Given the description of an element on the screen output the (x, y) to click on. 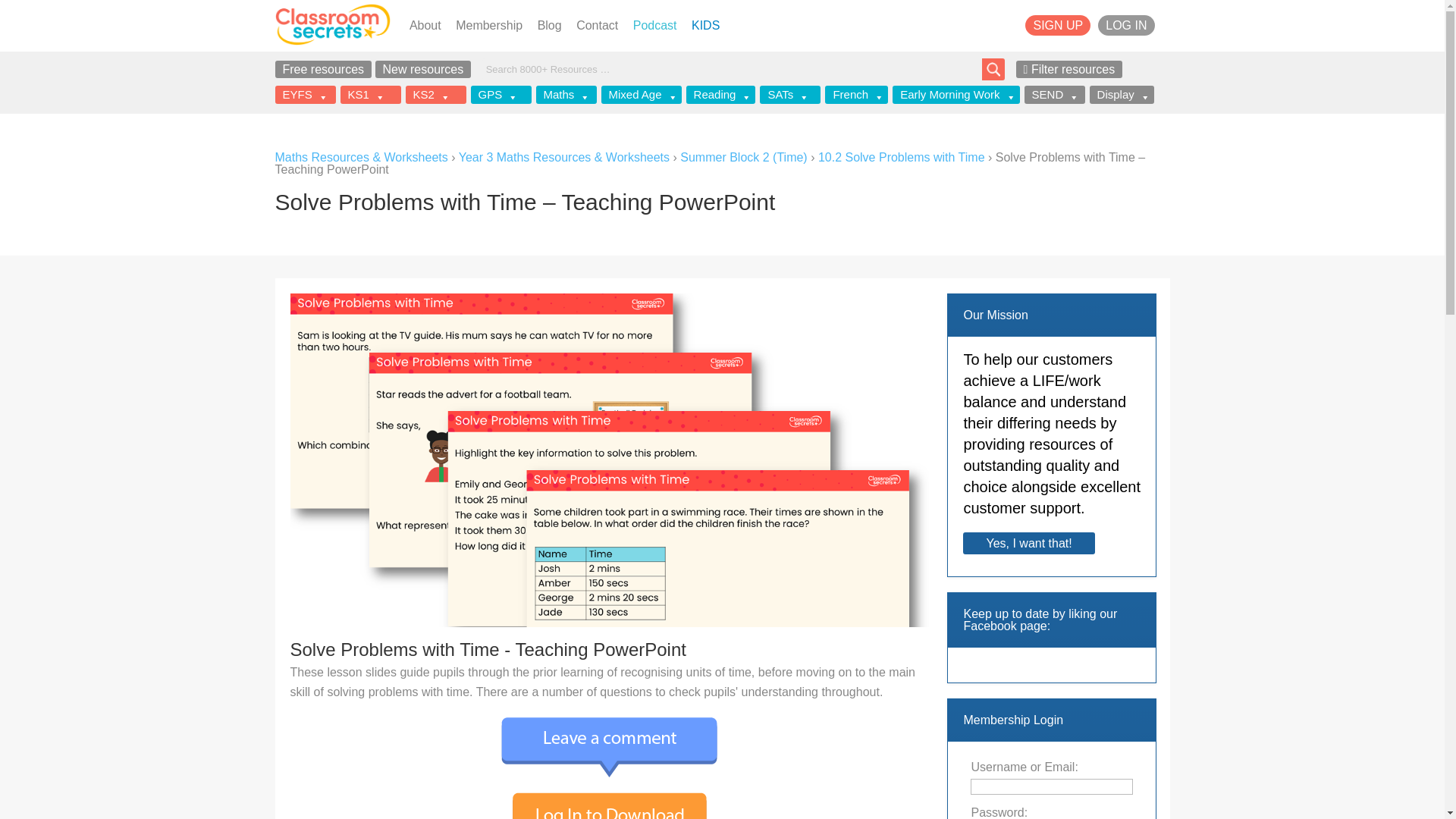
Username (1051, 786)
Free resources (323, 68)
Filter resources (1069, 68)
EYFS (304, 94)
Podcast (655, 24)
New resources (423, 68)
About (425, 24)
Search for: (734, 69)
Login (1125, 25)
Membership (488, 24)
